Given the description of an element on the screen output the (x, y) to click on. 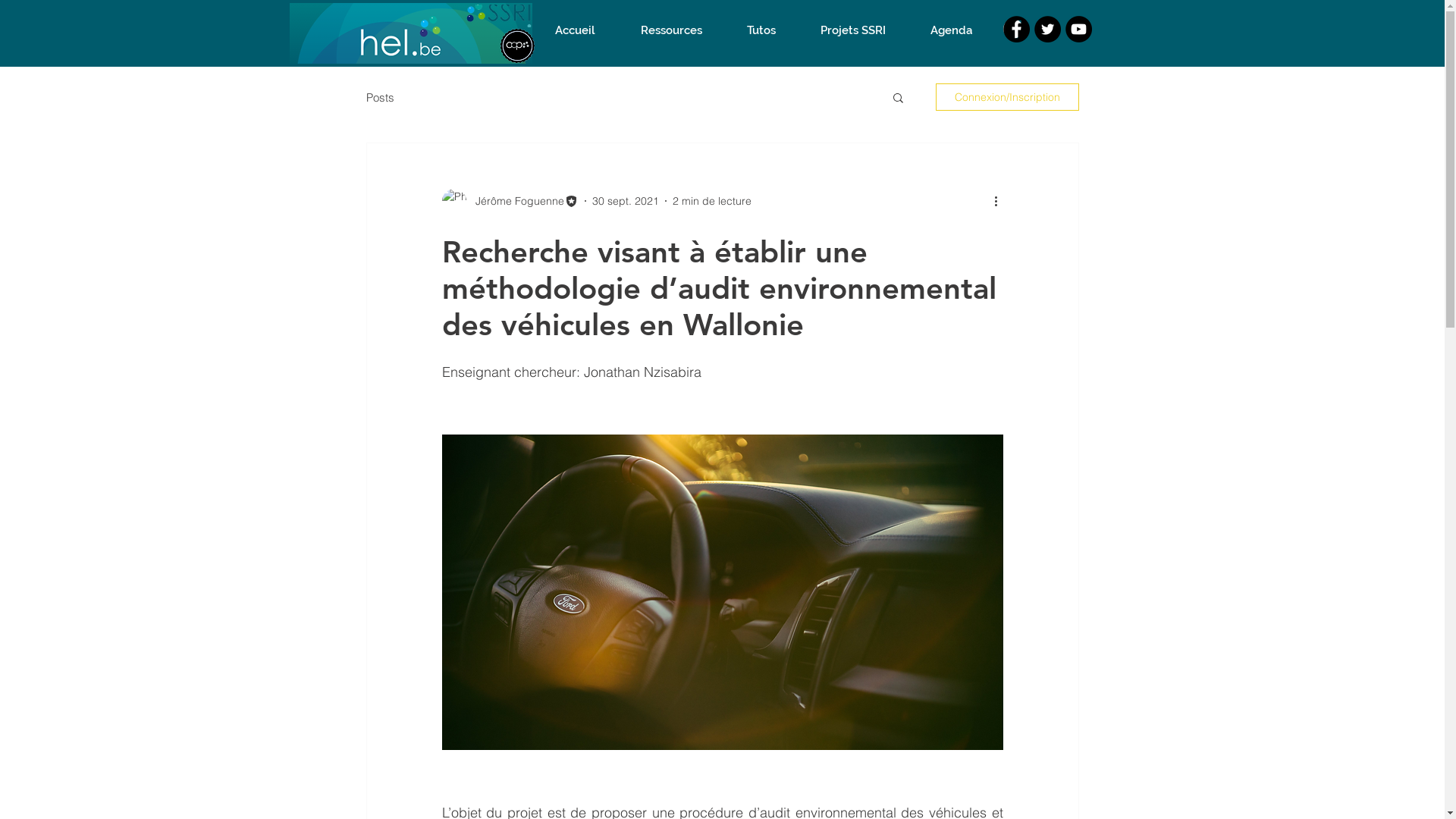
Connexion/Inscription Element type: text (1007, 96)
Projets SSRI Element type: text (852, 30)
Tutos Element type: text (761, 30)
Ressources Element type: text (670, 30)
Agenda Element type: text (951, 30)
Accueil Element type: text (575, 30)
Posts Element type: text (379, 96)
